Given the description of an element on the screen output the (x, y) to click on. 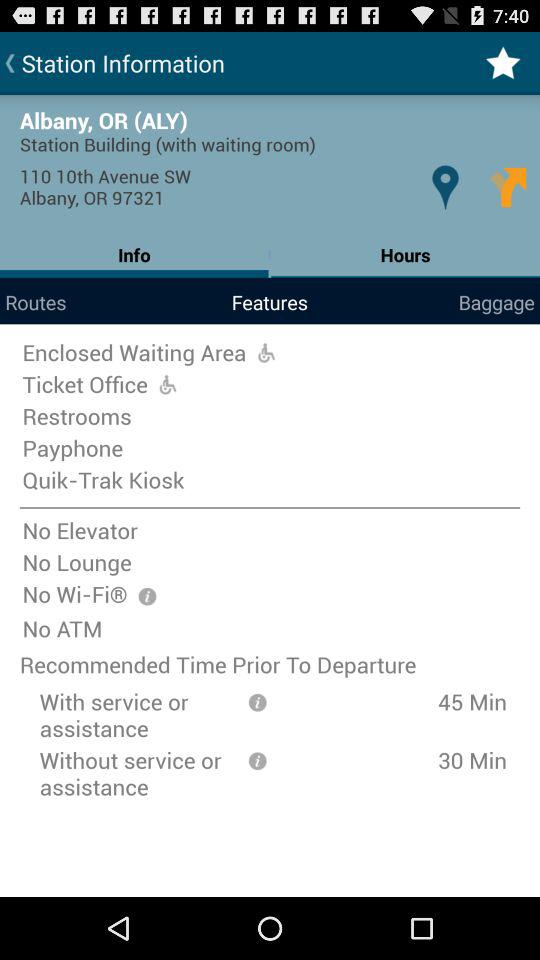
get more information about the selection no-wifi (147, 596)
